Given the description of an element on the screen output the (x, y) to click on. 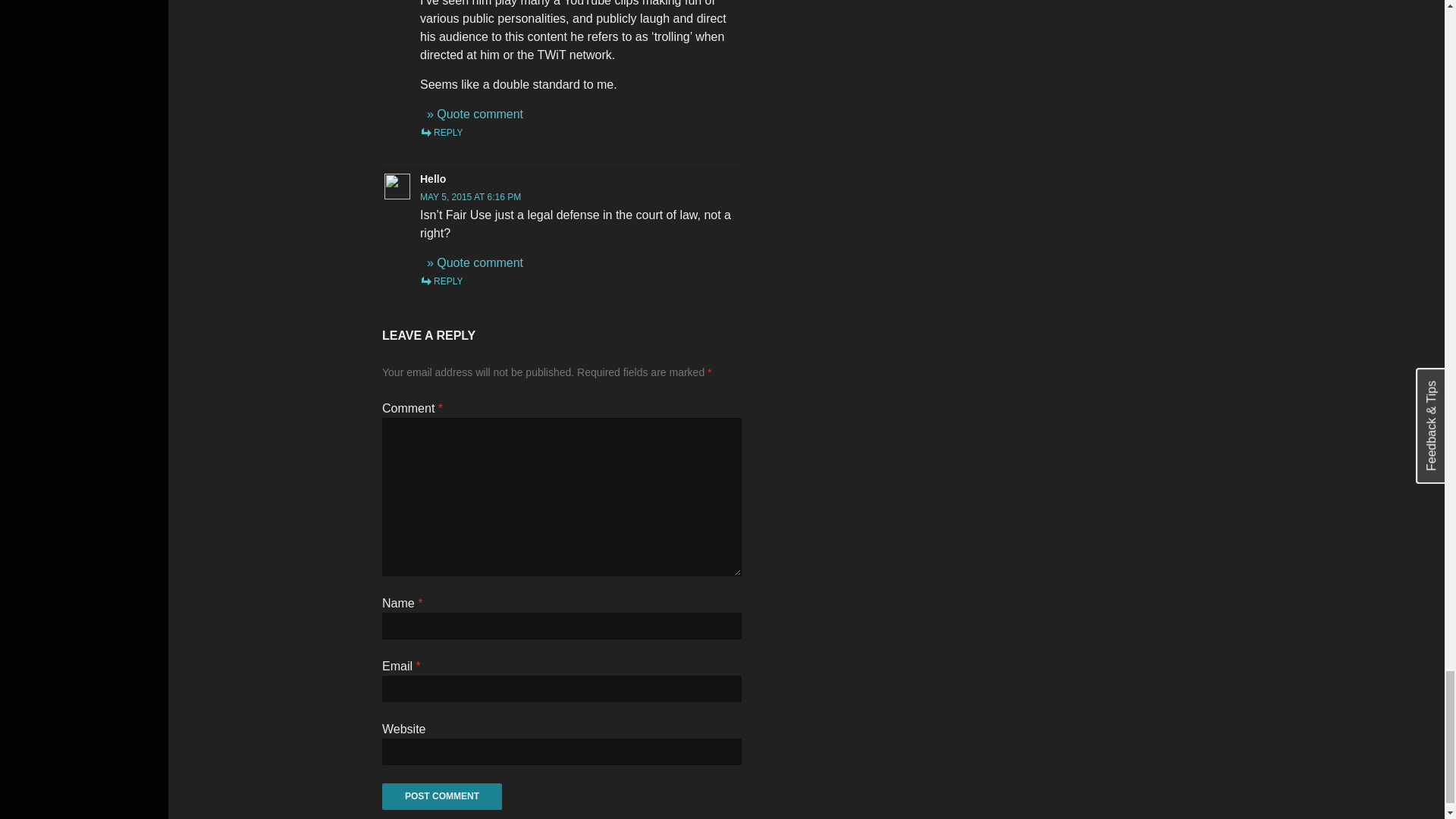
Click here or select text to quote comment (474, 113)
Post Comment (441, 795)
Click here or select text to quote comment (474, 262)
